Given the description of an element on the screen output the (x, y) to click on. 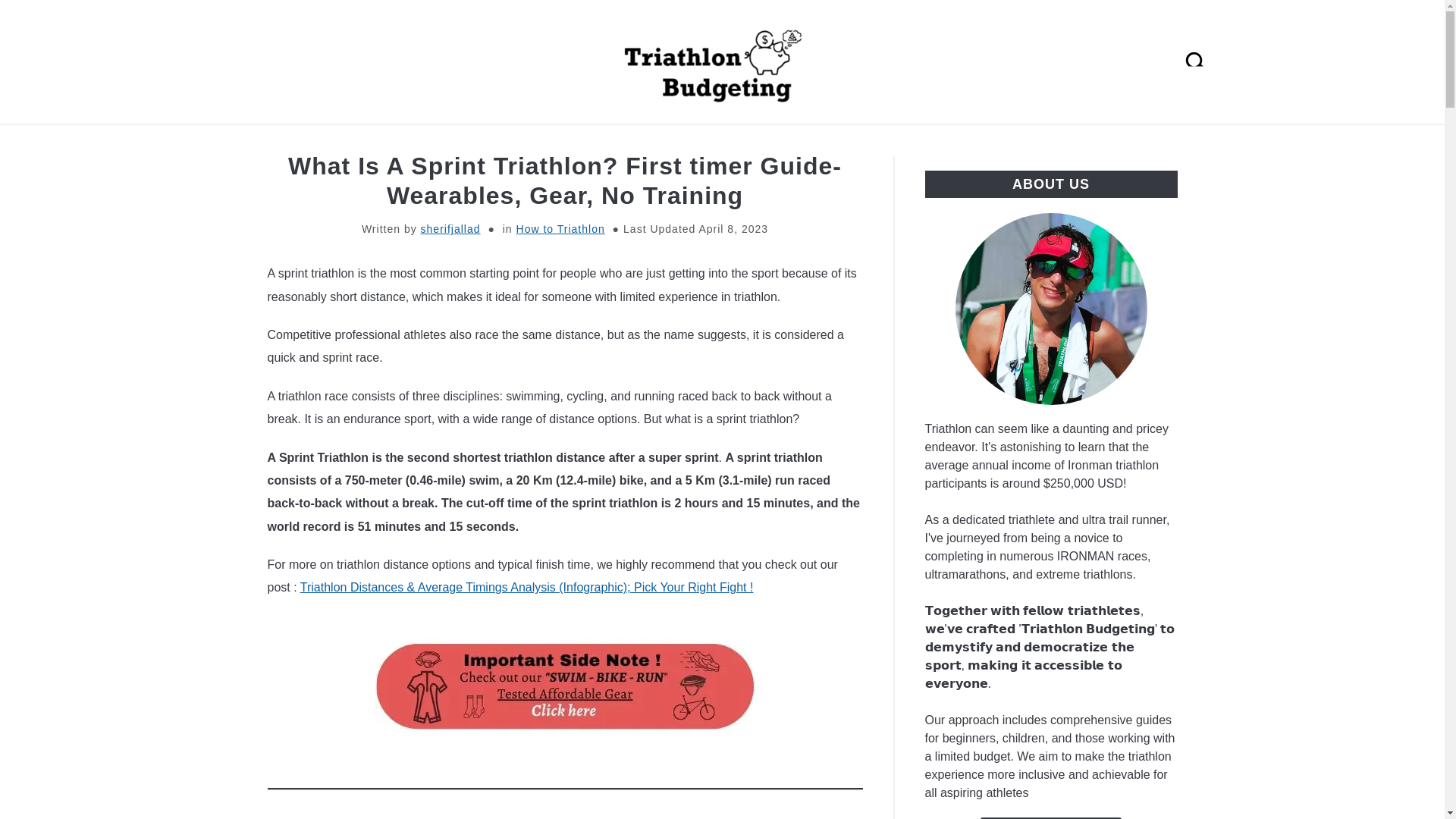
HOW TO TRIATHLON (750, 141)
Search (1203, 62)
SWIM (509, 141)
BIKE (574, 141)
RUN (635, 141)
How to Triathlon (560, 228)
BUDGET GEAR (1099, 141)
TRIATHLON STARTER KIT (377, 141)
sherifjallad (450, 228)
